Given the description of an element on the screen output the (x, y) to click on. 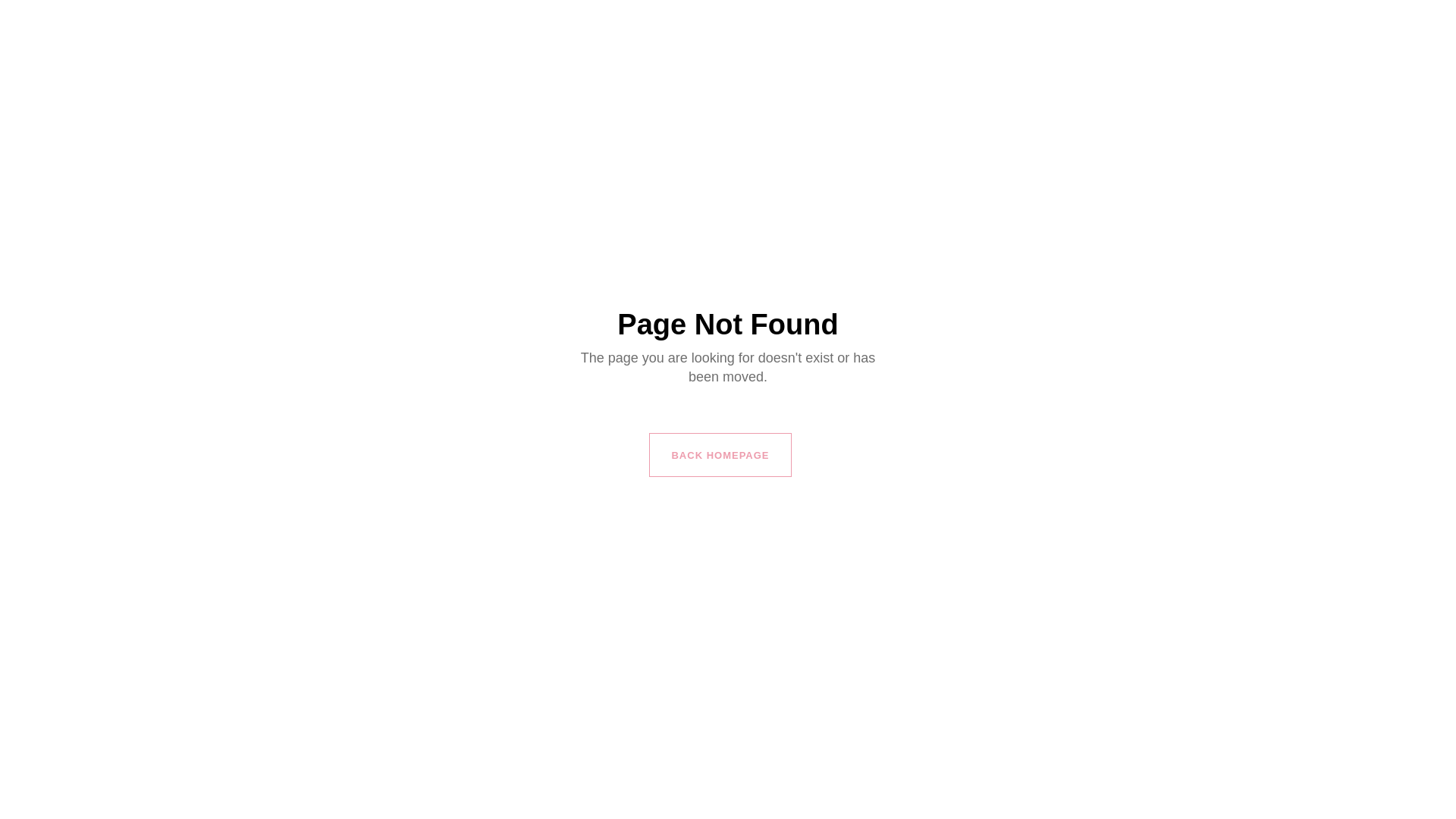
BACK HOMEPAGE Element type: text (719, 454)
